Given the description of an element on the screen output the (x, y) to click on. 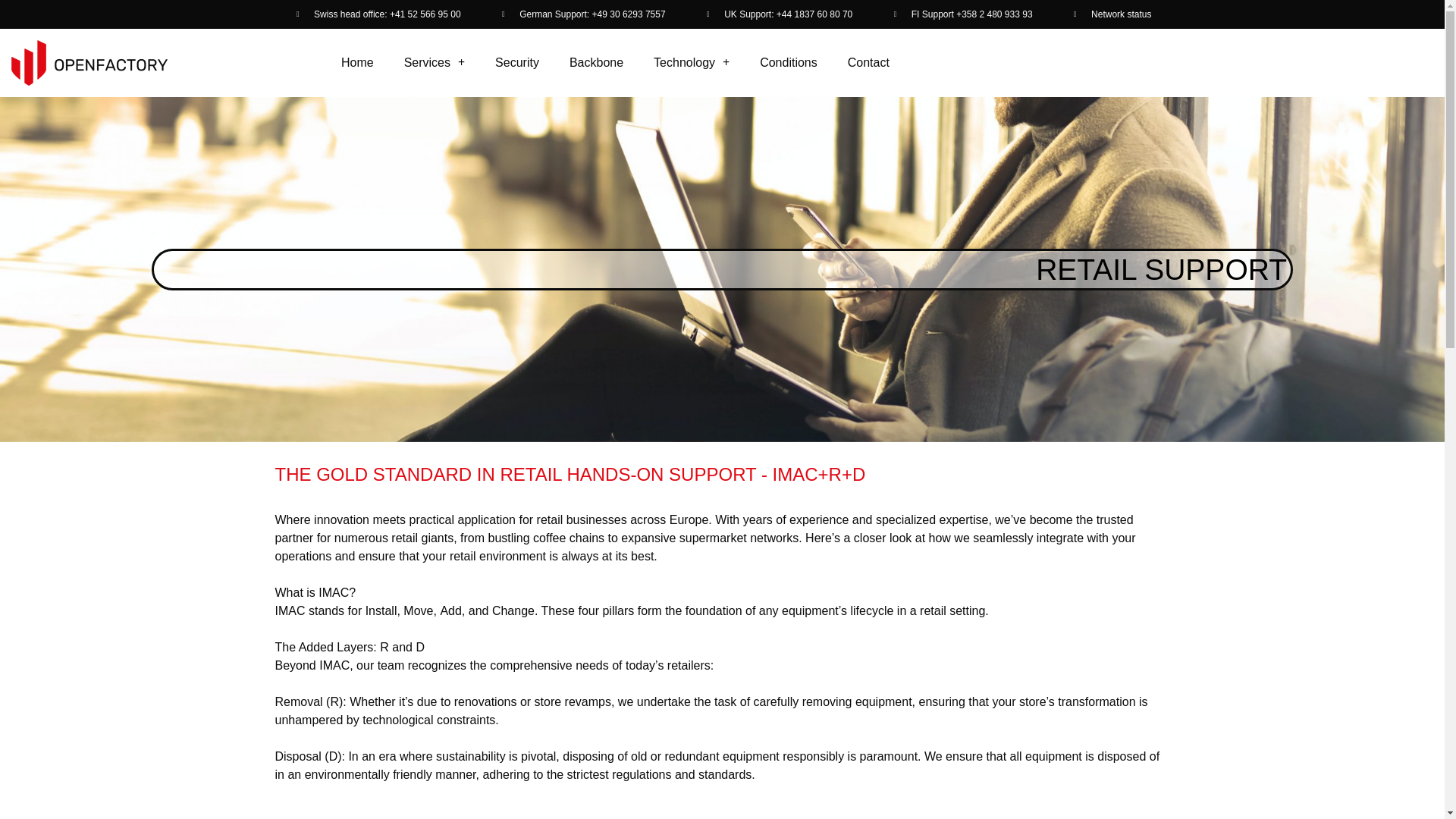
Network status (1110, 14)
Openfactory Logo 2 trimmed (89, 62)
Backbone (596, 62)
Security (517, 62)
Services (434, 62)
Home (357, 62)
